Given the description of an element on the screen output the (x, y) to click on. 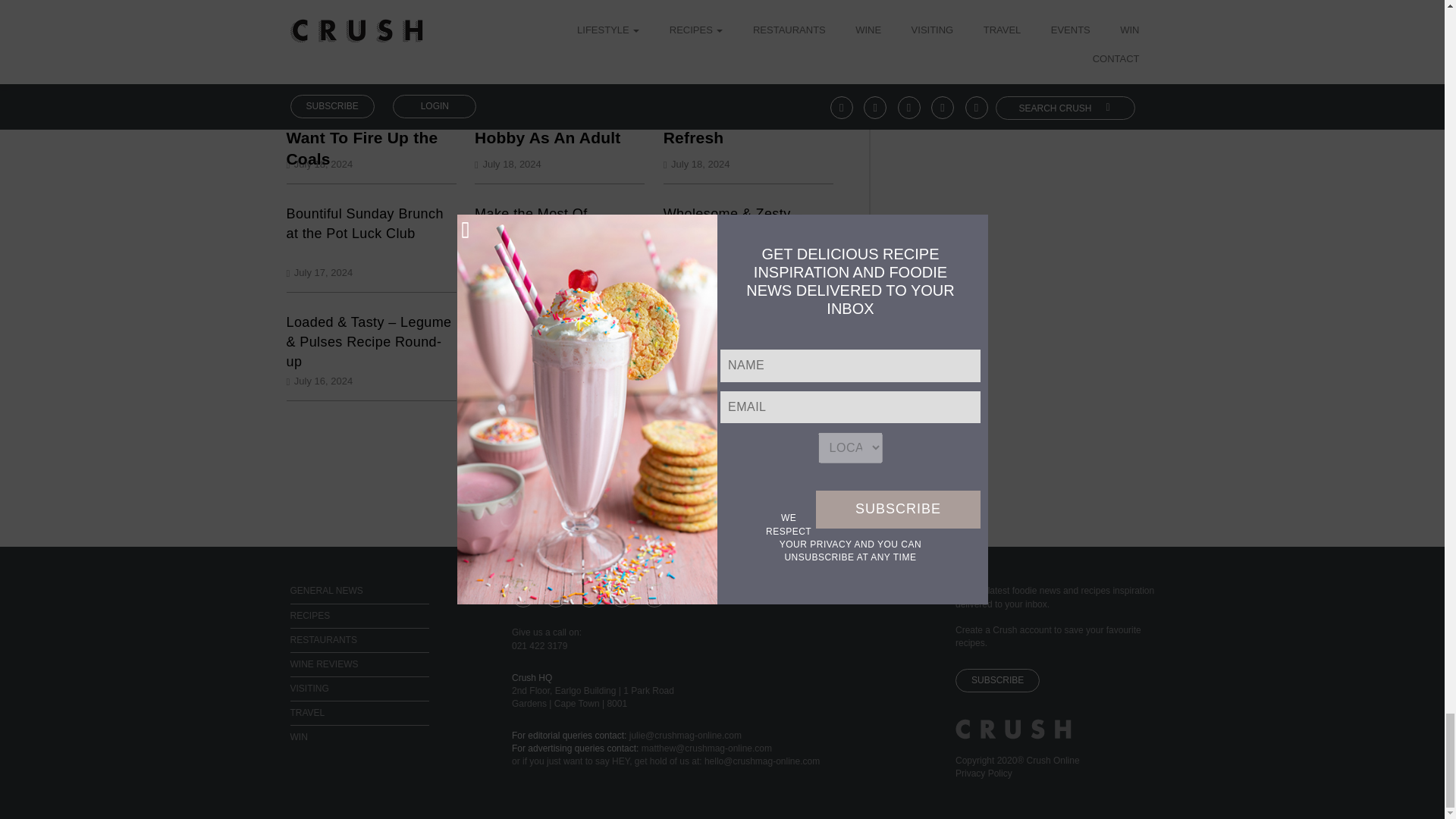
Crush Mag Online (1013, 736)
